Given the description of an element on the screen output the (x, y) to click on. 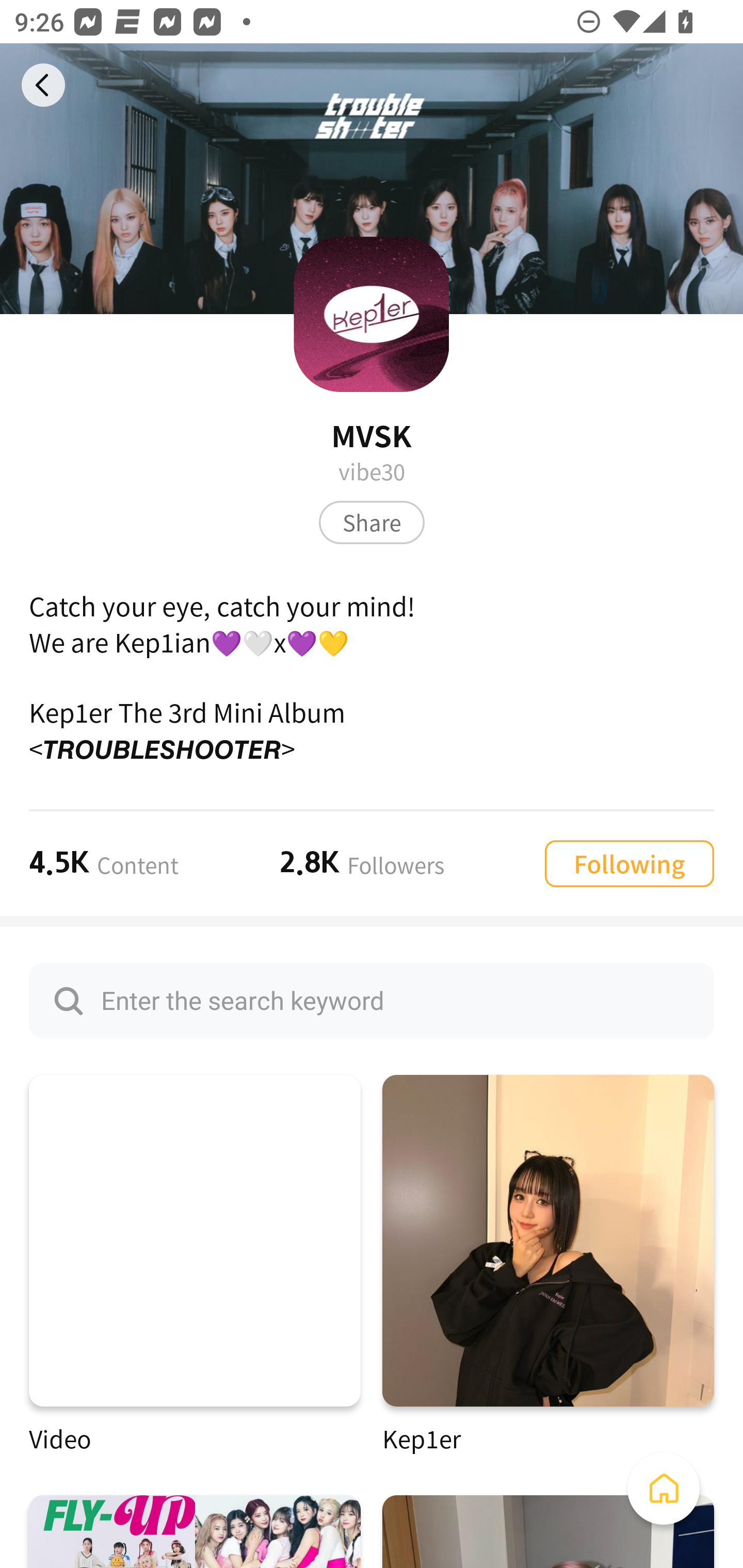
Share (371, 522)
Following (629, 863)
Enter the search keyword (371, 1000)
Video (194, 1265)
Kep1er (548, 1265)
